Given the description of an element on the screen output the (x, y) to click on. 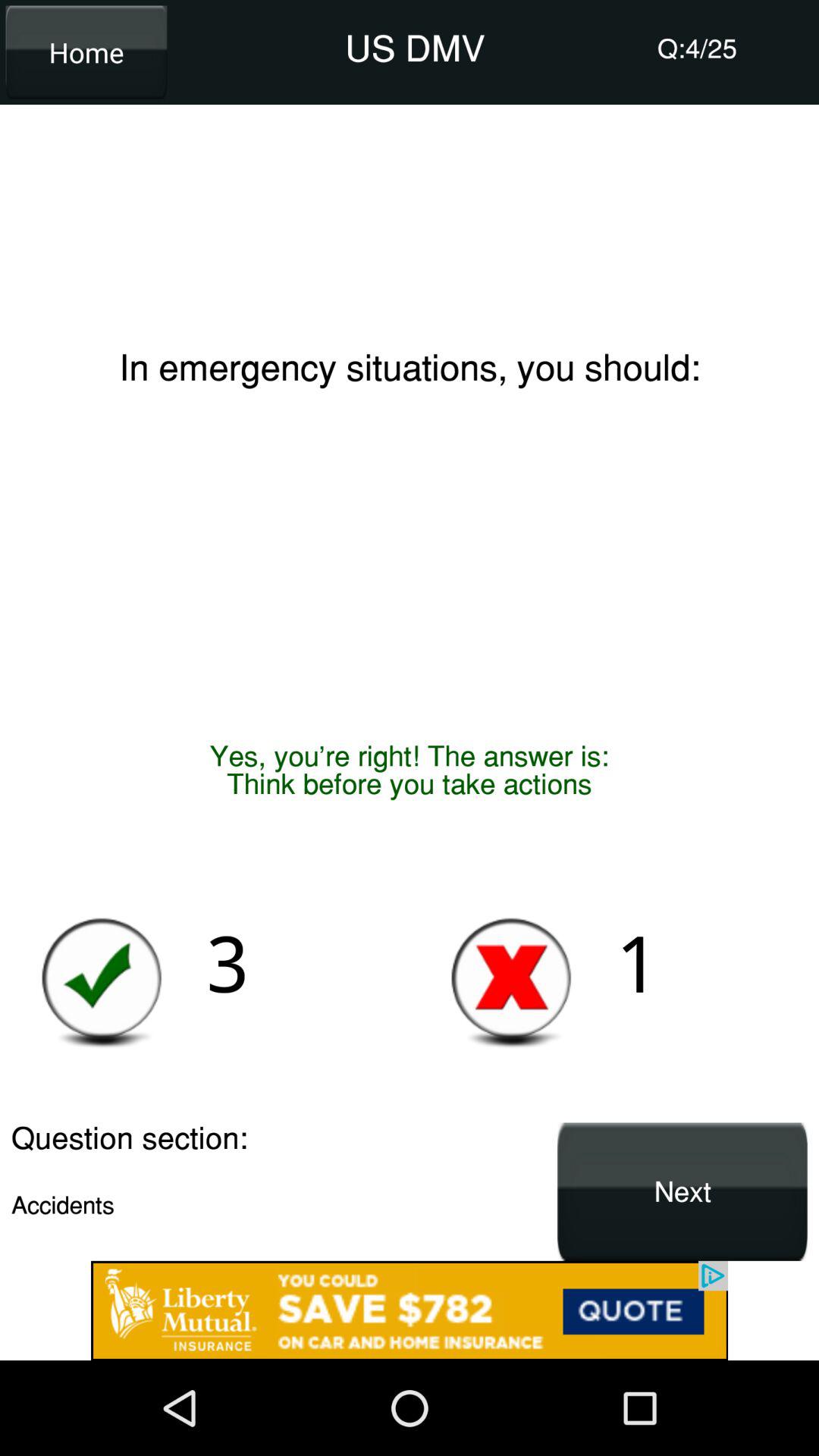
advertisement window (409, 1310)
